Given the description of an element on the screen output the (x, y) to click on. 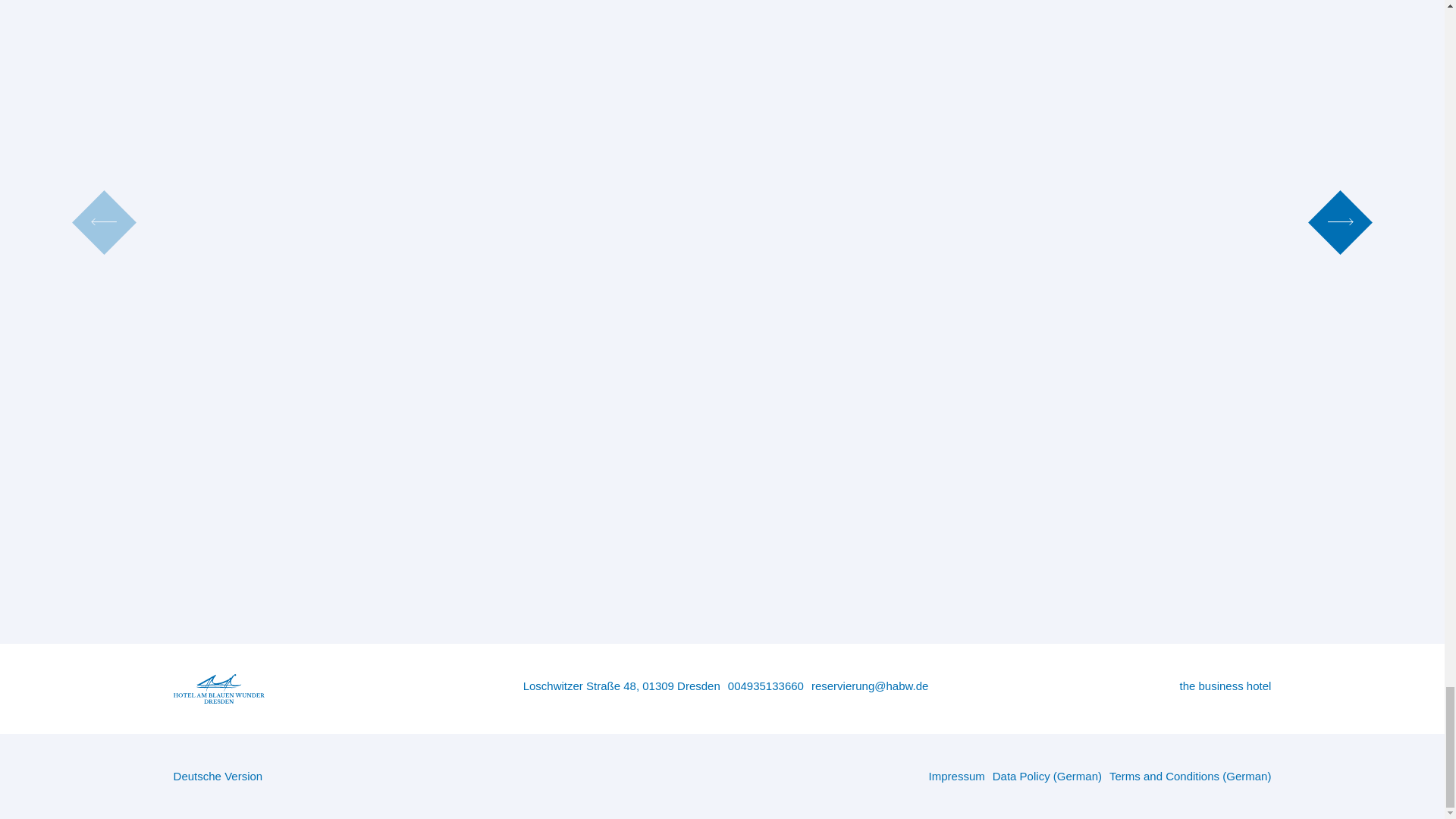
004935133660 (761, 685)
Hotel Am Blauen Wunder (221, 775)
Impressum (953, 775)
